Given the description of an element on the screen output the (x, y) to click on. 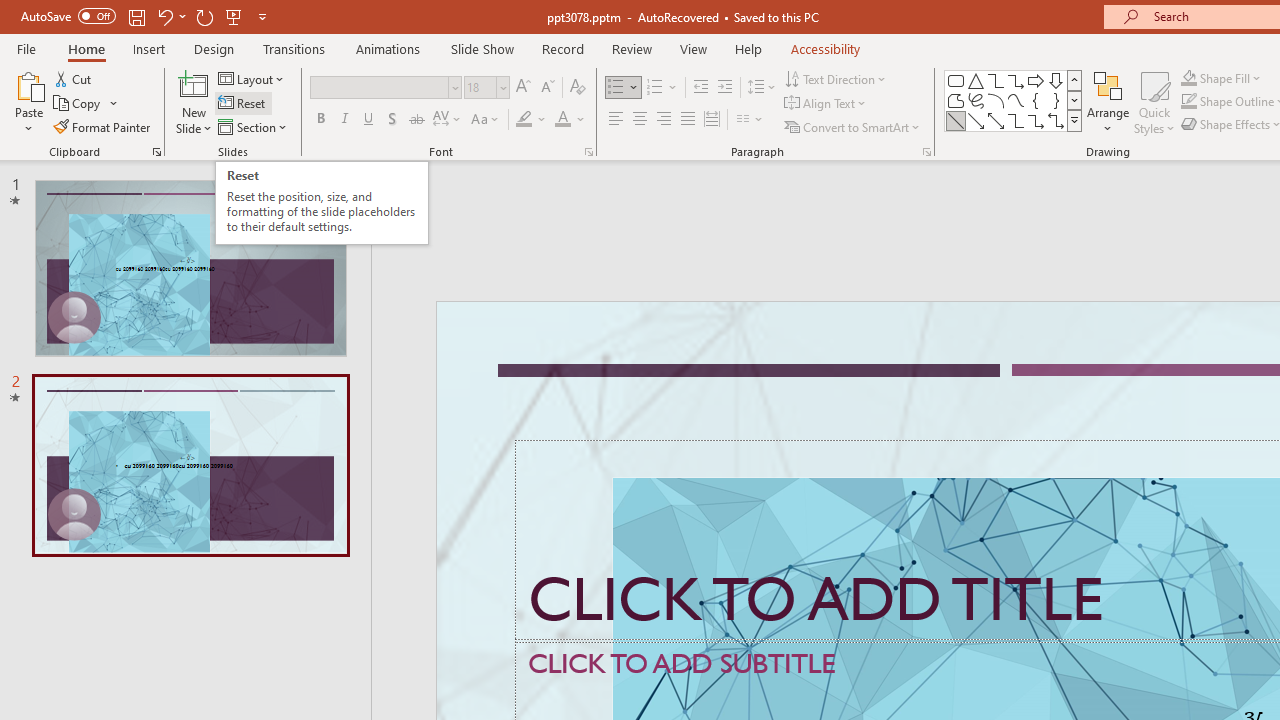
Quick Styles (1154, 102)
AutomationID: ShapesInsertGallery (1014, 100)
Bullets (616, 87)
Increase Indent (725, 87)
Reset (243, 103)
Line Arrow: Double (995, 120)
Arc (995, 100)
Text Direction (836, 78)
Copy (78, 103)
